Given the description of an element on the screen output the (x, y) to click on. 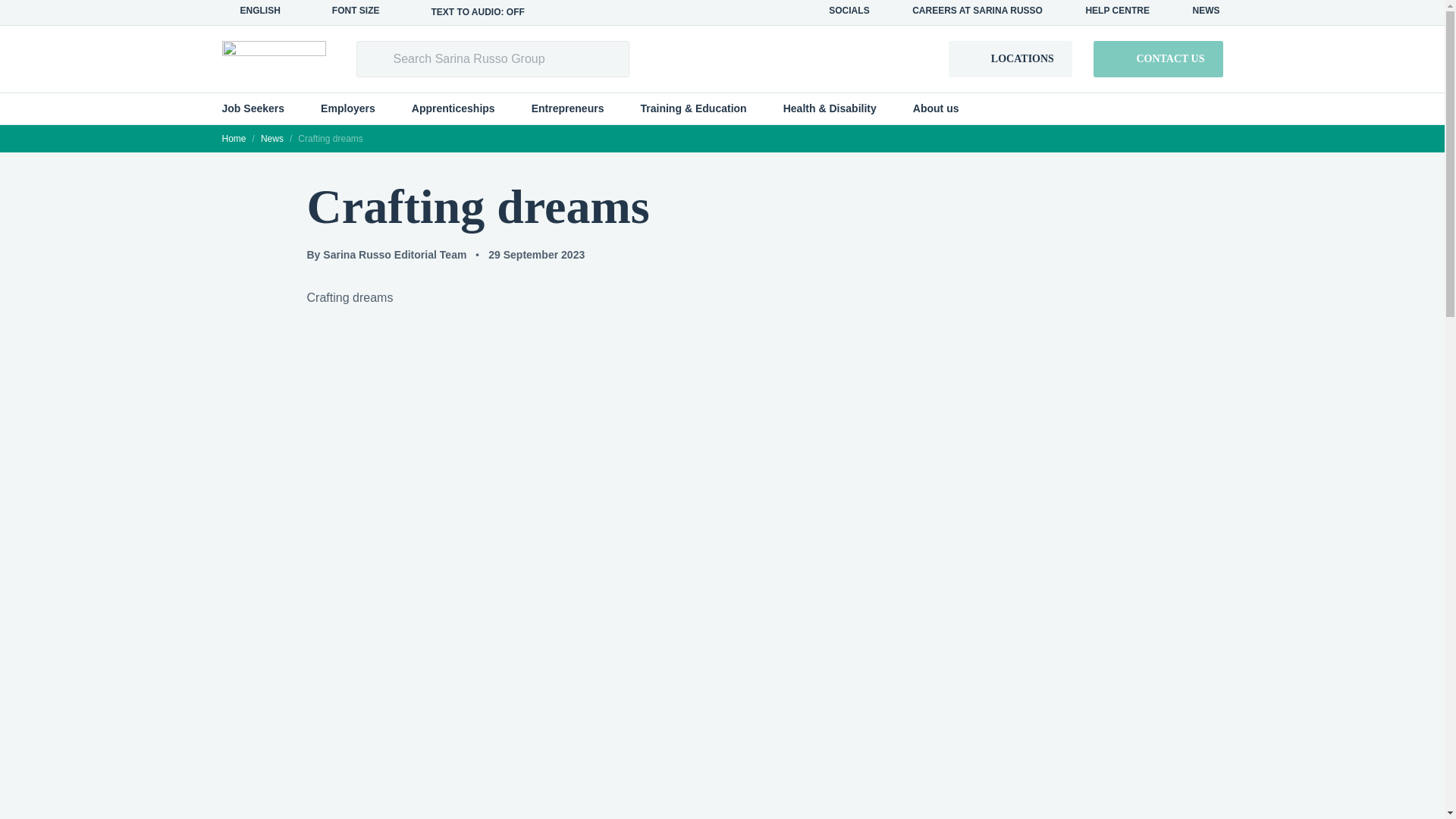
SOCIALS (841, 10)
NEWS (1198, 10)
HELP CENTRE (1110, 10)
ENGLISH (258, 10)
LOCATIONS (1010, 58)
FONT SIZE (354, 10)
TEXT TO AUDIO: OFF (470, 11)
CONTACT US (1158, 58)
CAREERS AT SARINA RUSSO (969, 10)
